Given the description of an element on the screen output the (x, y) to click on. 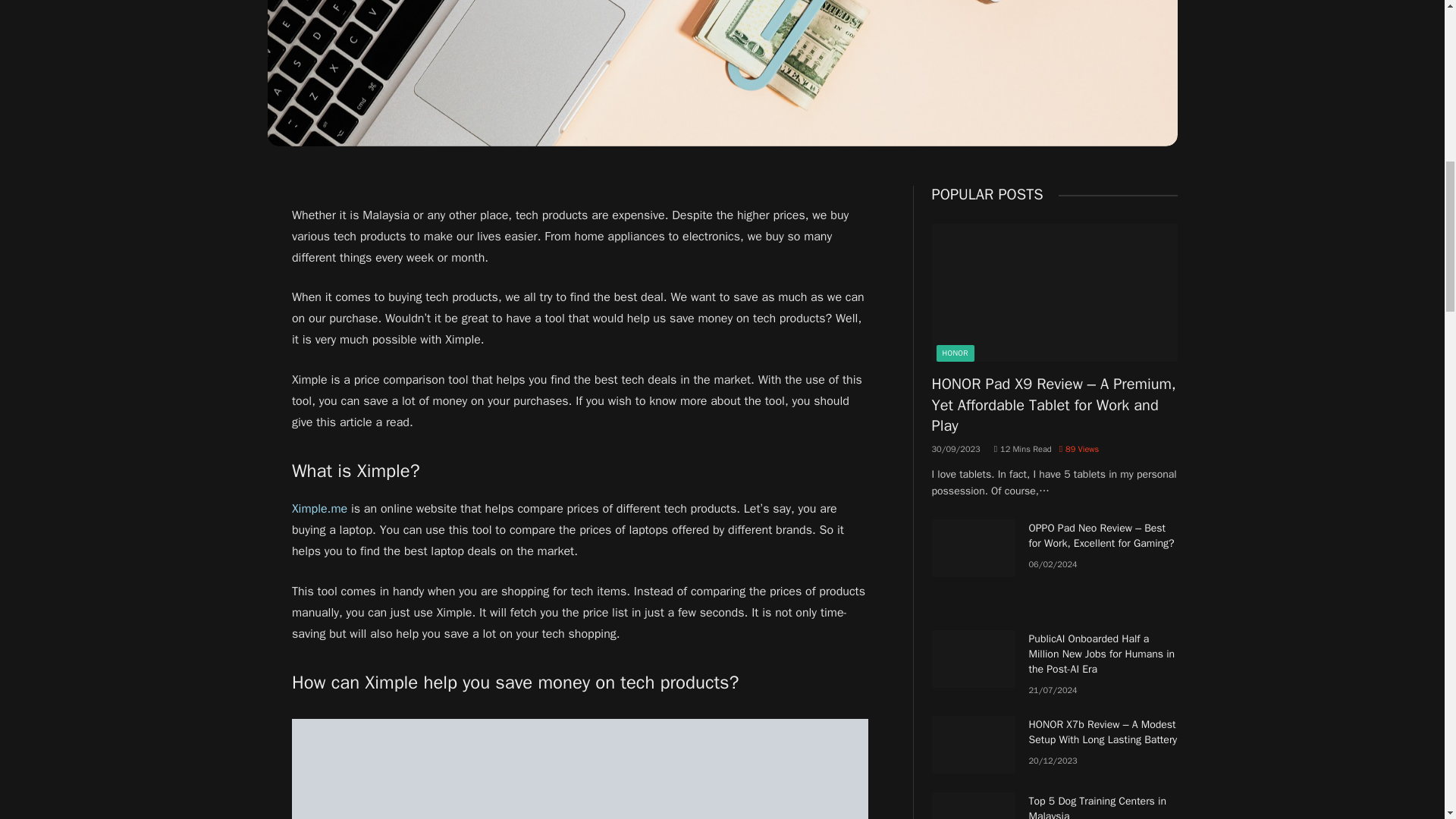
How to Save While Buying Tech Products in Malaysia? (721, 73)
How to Save While Buying Tech Products in Malaysia? (579, 769)
